Given the description of an element on the screen output the (x, y) to click on. 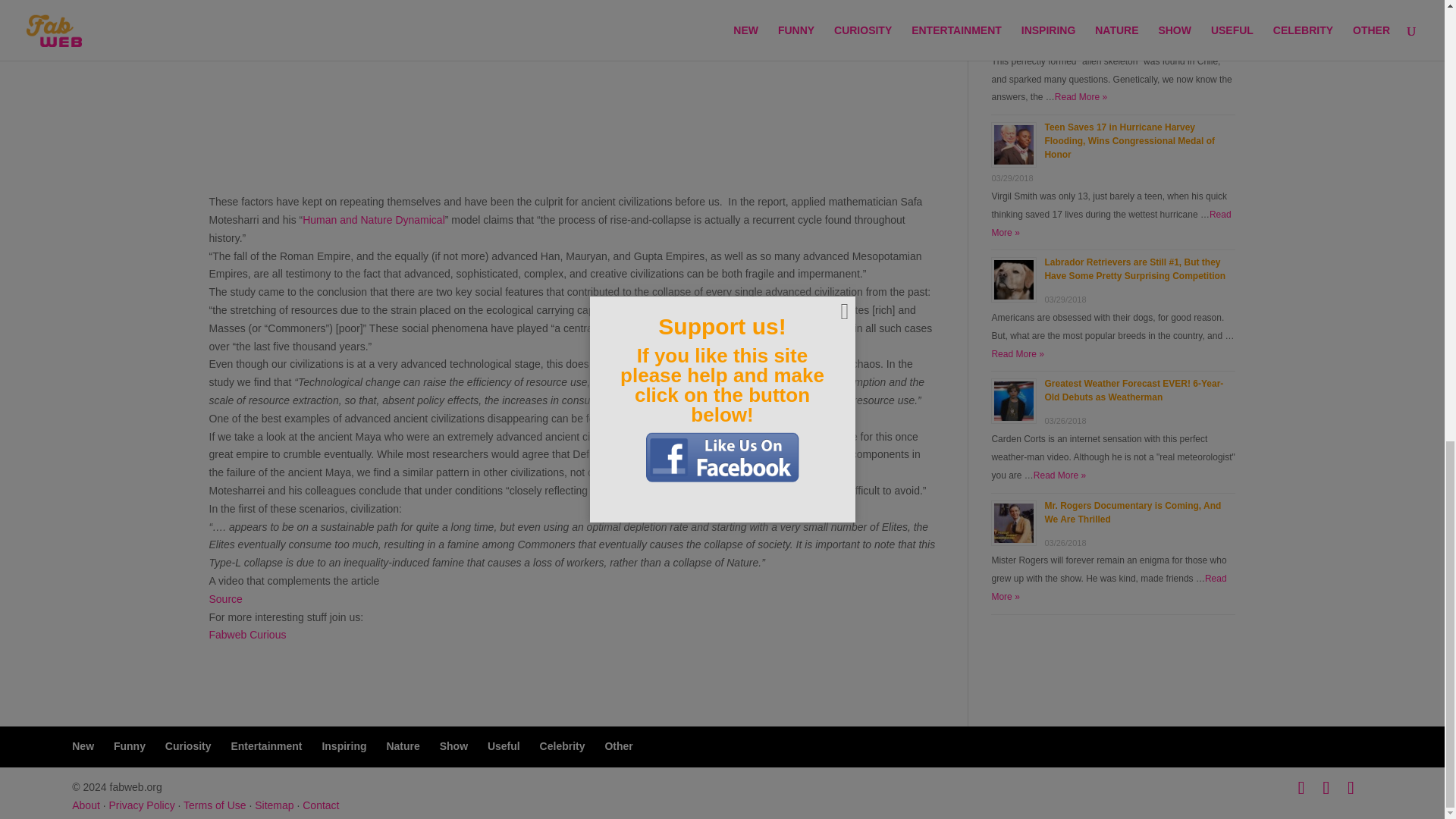
Source (226, 598)
Fabweb Curious (247, 634)
Human and Nature Dynamical (373, 219)
